Given the description of an element on the screen output the (x, y) to click on. 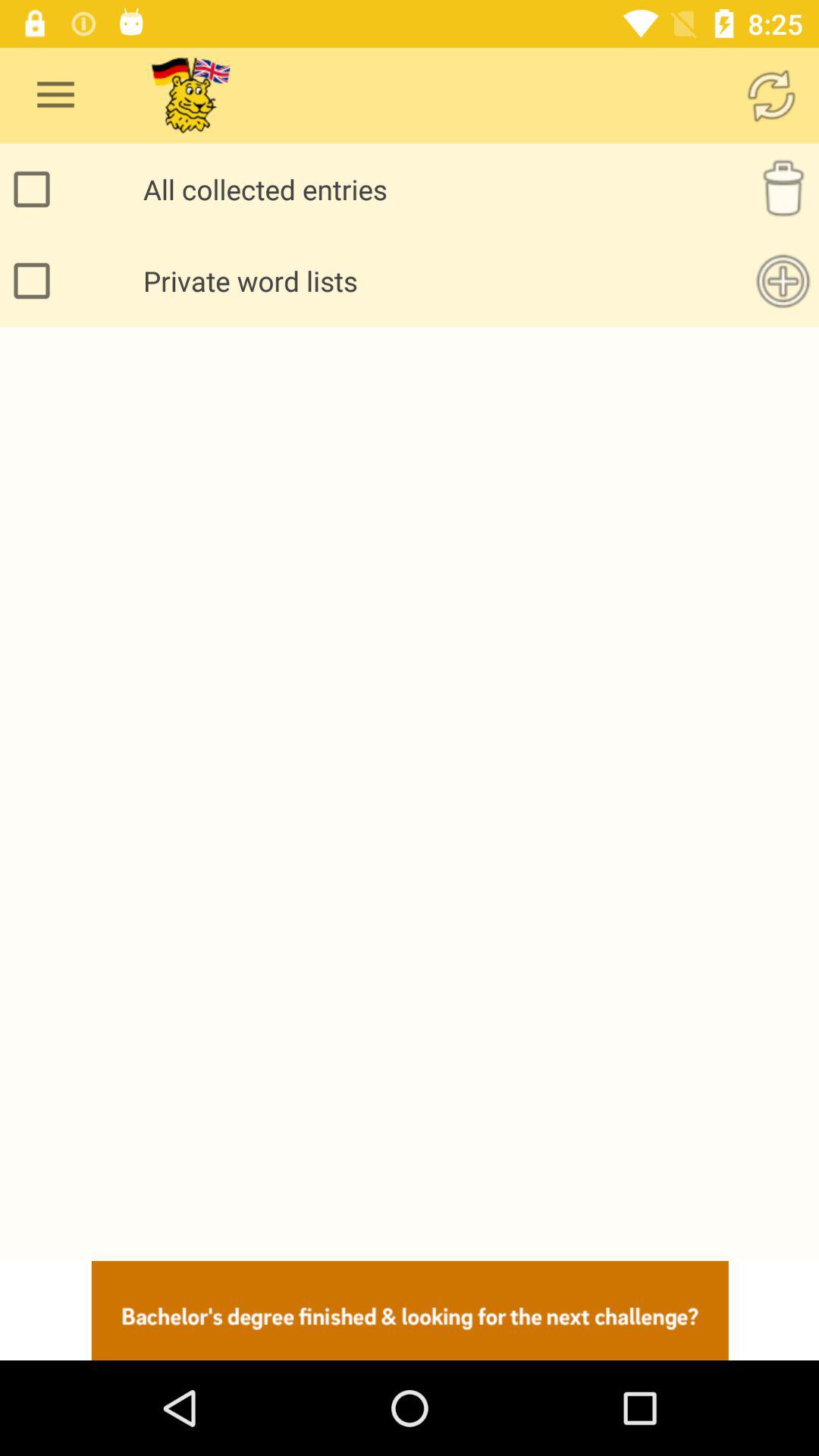
information deletd (783, 189)
